Given the description of an element on the screen output the (x, y) to click on. 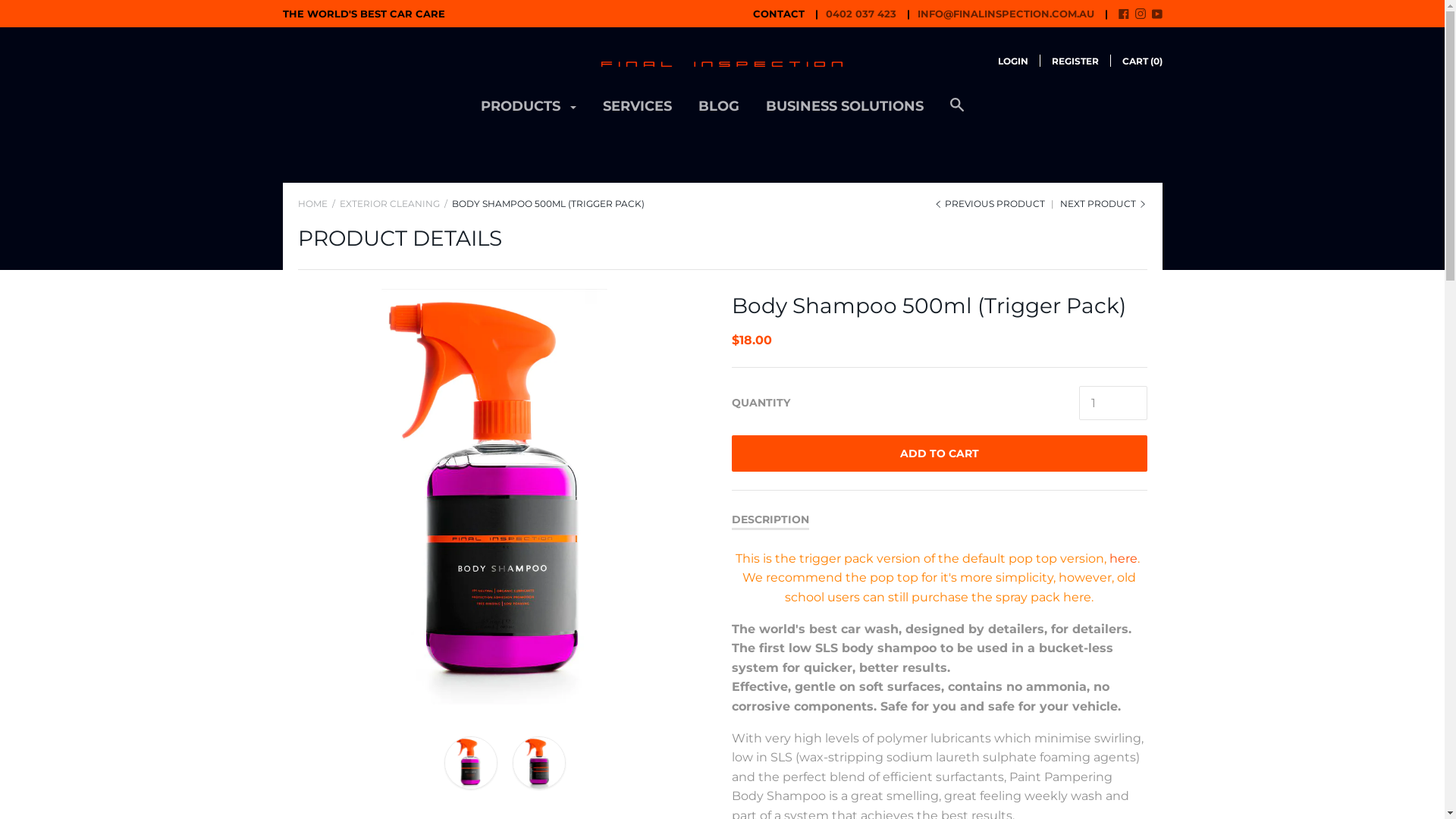
here Element type: text (1123, 558)
Instagram Element type: text (1139, 15)
LOGIN Element type: text (1012, 60)
EXTERIOR CLEANING Element type: text (389, 203)
PREVIOUS PRODUCT Element type: text (989, 203)
REGISTER Element type: text (1074, 60)
Search Element type: hover (956, 112)
Facebook Element type: text (1122, 15)
HOME Element type: text (311, 203)
BUSINESS SOLUTIONS Element type: text (844, 111)
CART (0) Element type: text (1142, 60)
PRODUCTS Element type: text (528, 111)
SERVICES Element type: text (636, 111)
YouTube Element type: text (1156, 15)
INFO@FINALINSPECTION.COM.AU Element type: text (996, 13)
ADD TO CART Element type: text (939, 453)
BLOG Element type: text (718, 111)
NEXT PRODUCT Element type: text (1103, 203)
